Given the description of an element on the screen output the (x, y) to click on. 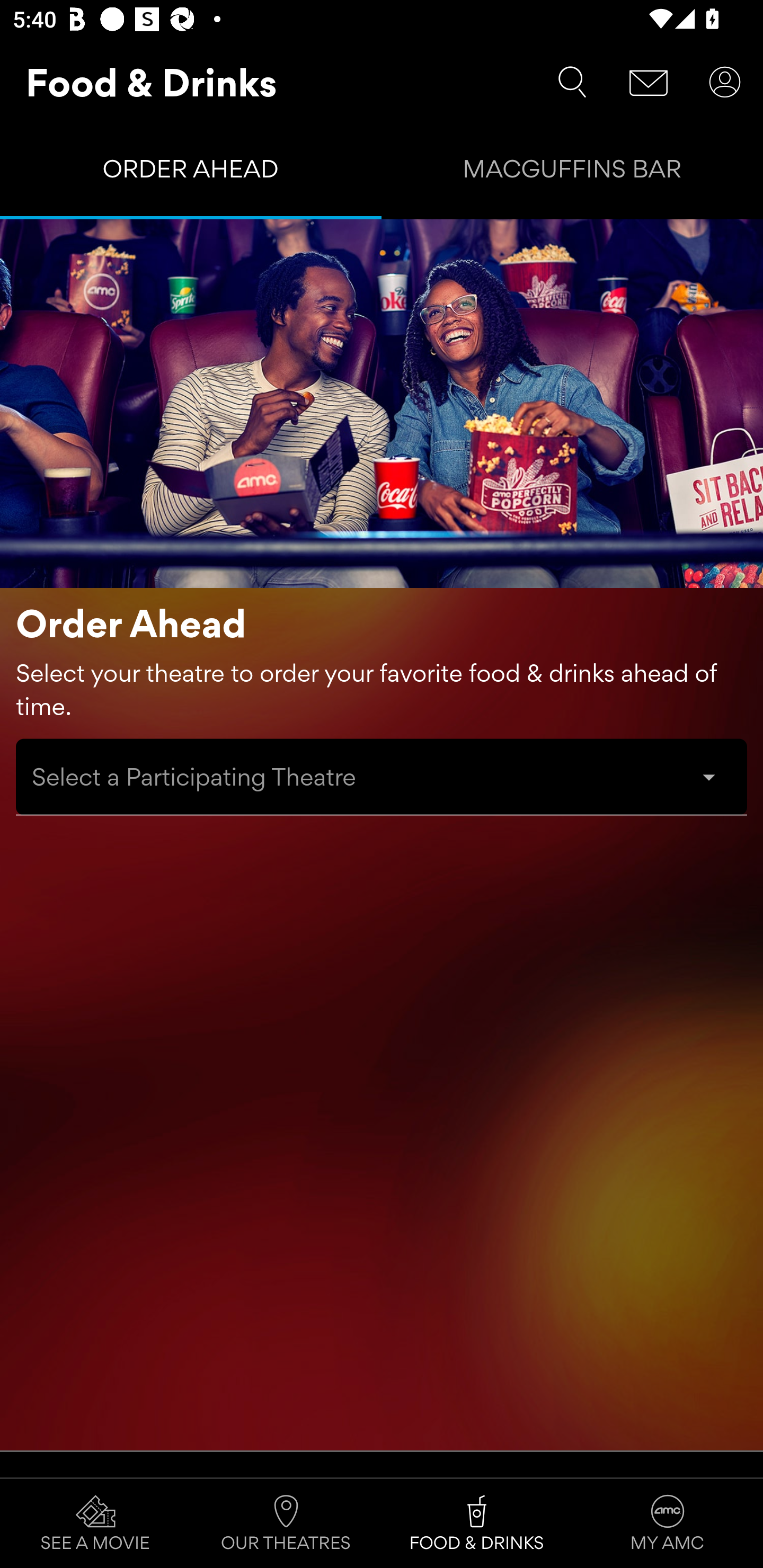
Search (572, 82)
Message Center (648, 82)
User Account (724, 82)
ORDER AHEAD
Tab 1 of 2 (190, 173)
MACGUFFINS BAR
Tab 2 of 2 (572, 173)
SEE A MOVIE
Tab 1 of 4 (95, 1523)
OUR THEATRES
Tab 2 of 4 (285, 1523)
FOOD & DRINKS
Tab 3 of 4 (476, 1523)
MY AMC
Tab 4 of 4 (667, 1523)
